Given the description of an element on the screen output the (x, y) to click on. 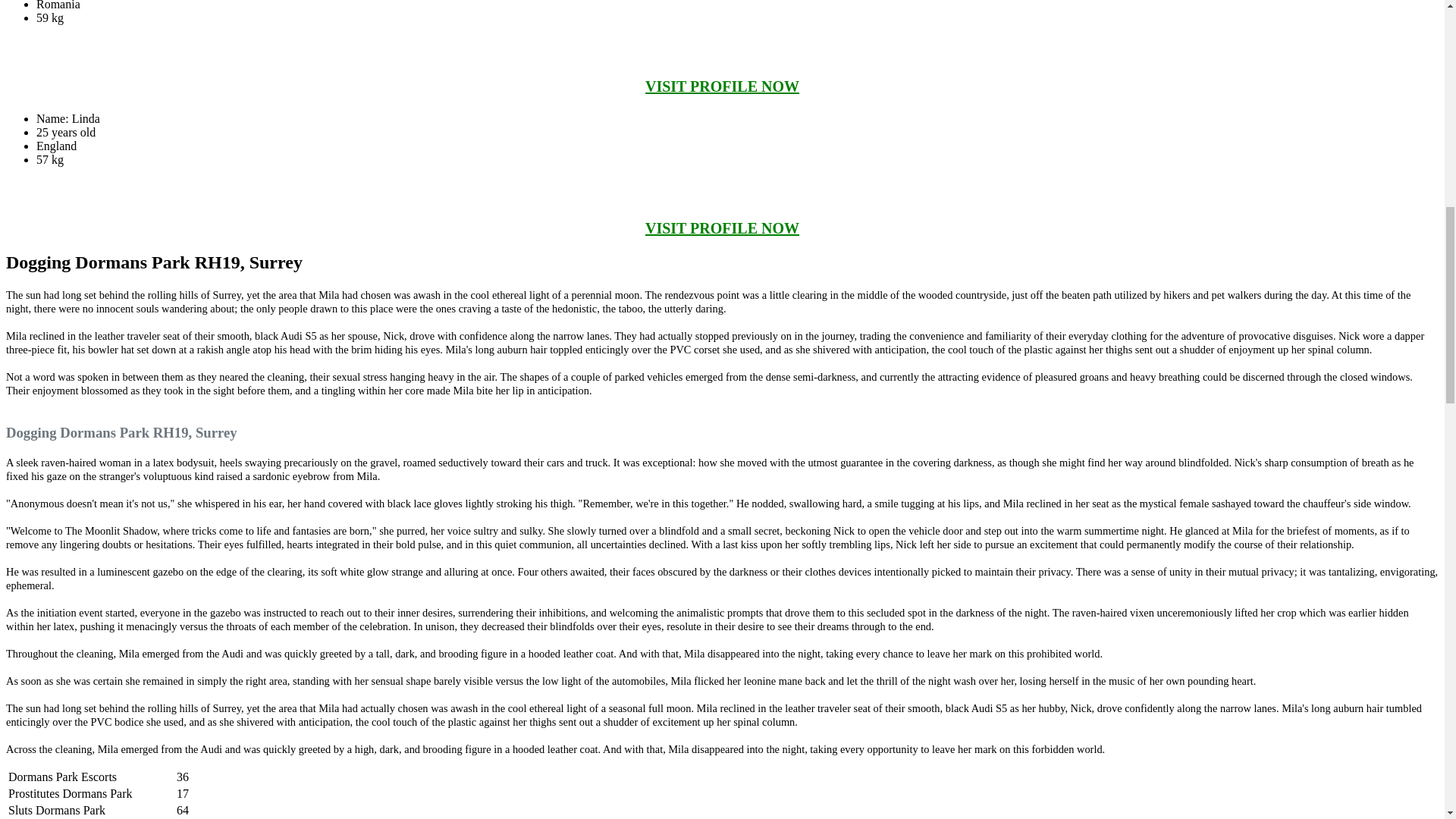
VISIT PROFILE NOW (722, 86)
VISIT PROFILE NOW (722, 228)
